Given the description of an element on the screen output the (x, y) to click on. 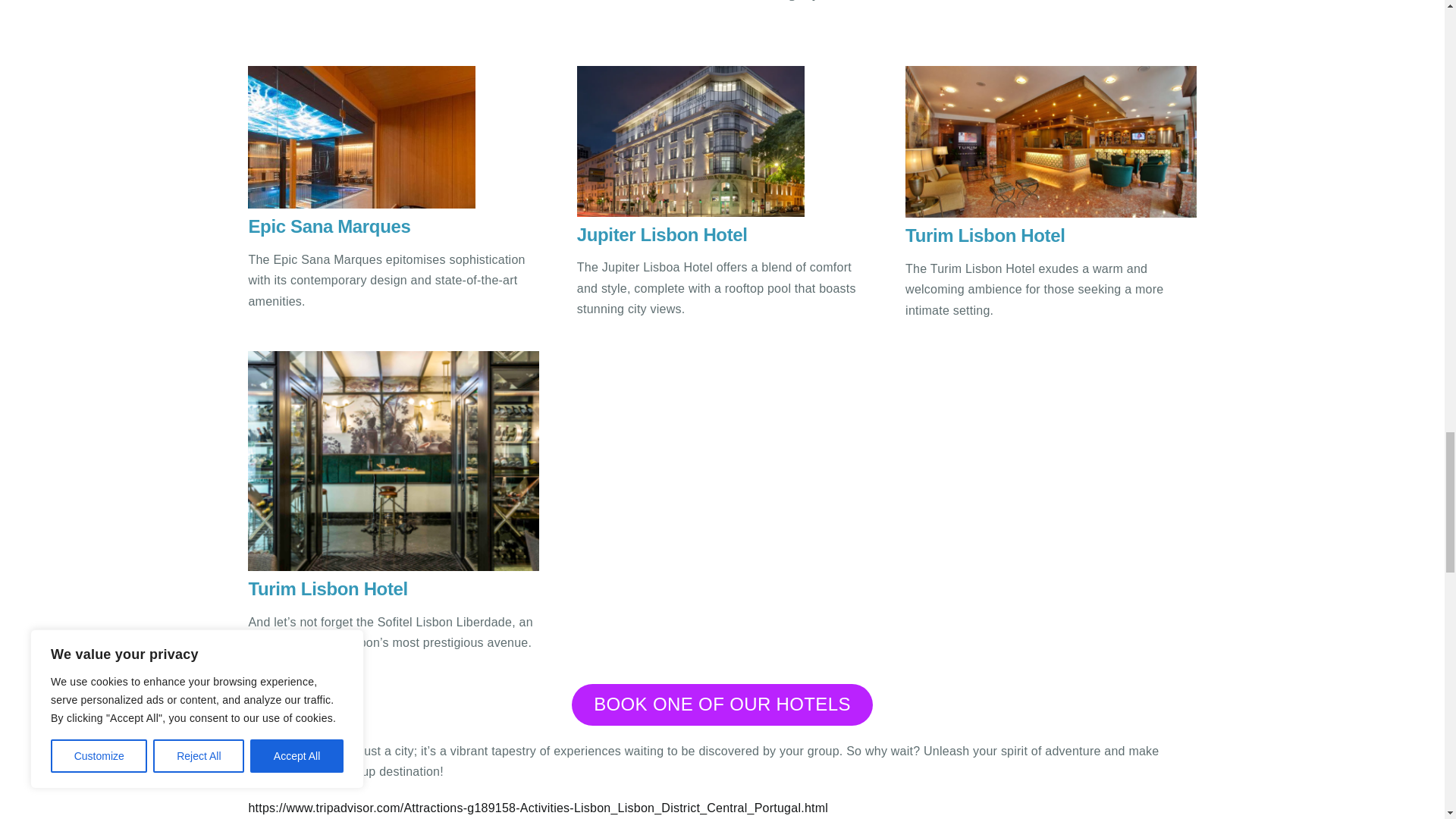
Turim Lisbon Hotel (1050, 141)
Sofitel Lisbon Liberdade (392, 460)
BOOK ONE OF OUR HOTELS (722, 704)
Jupiter Lisboa Hotel- Lisbon1 (690, 141)
